Given the description of an element on the screen output the (x, y) to click on. 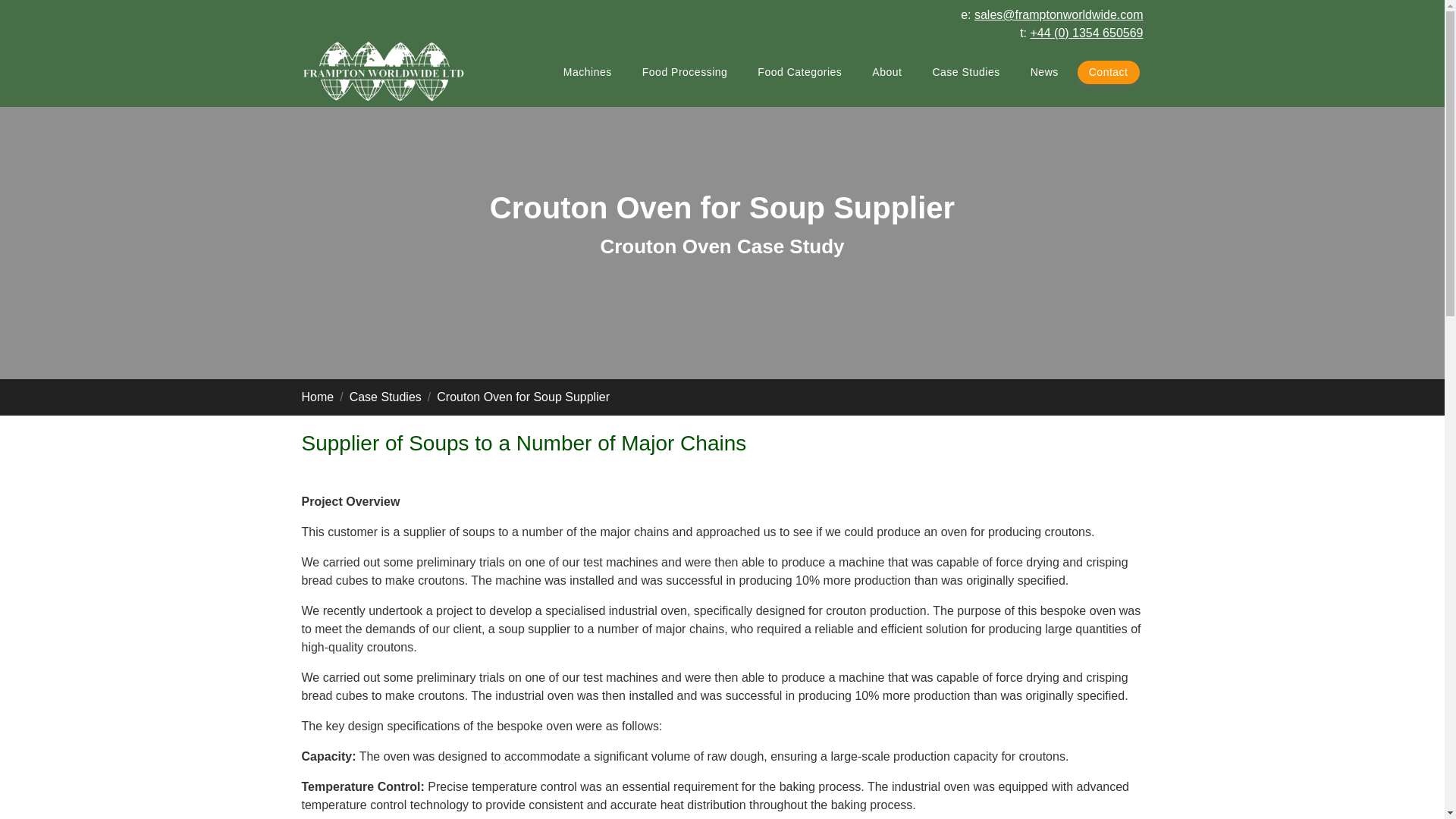
About (886, 72)
Food Categories (799, 72)
Case Studies (965, 72)
Machines (587, 72)
Food Processing (684, 72)
Company Name (383, 71)
